Given the description of an element on the screen output the (x, y) to click on. 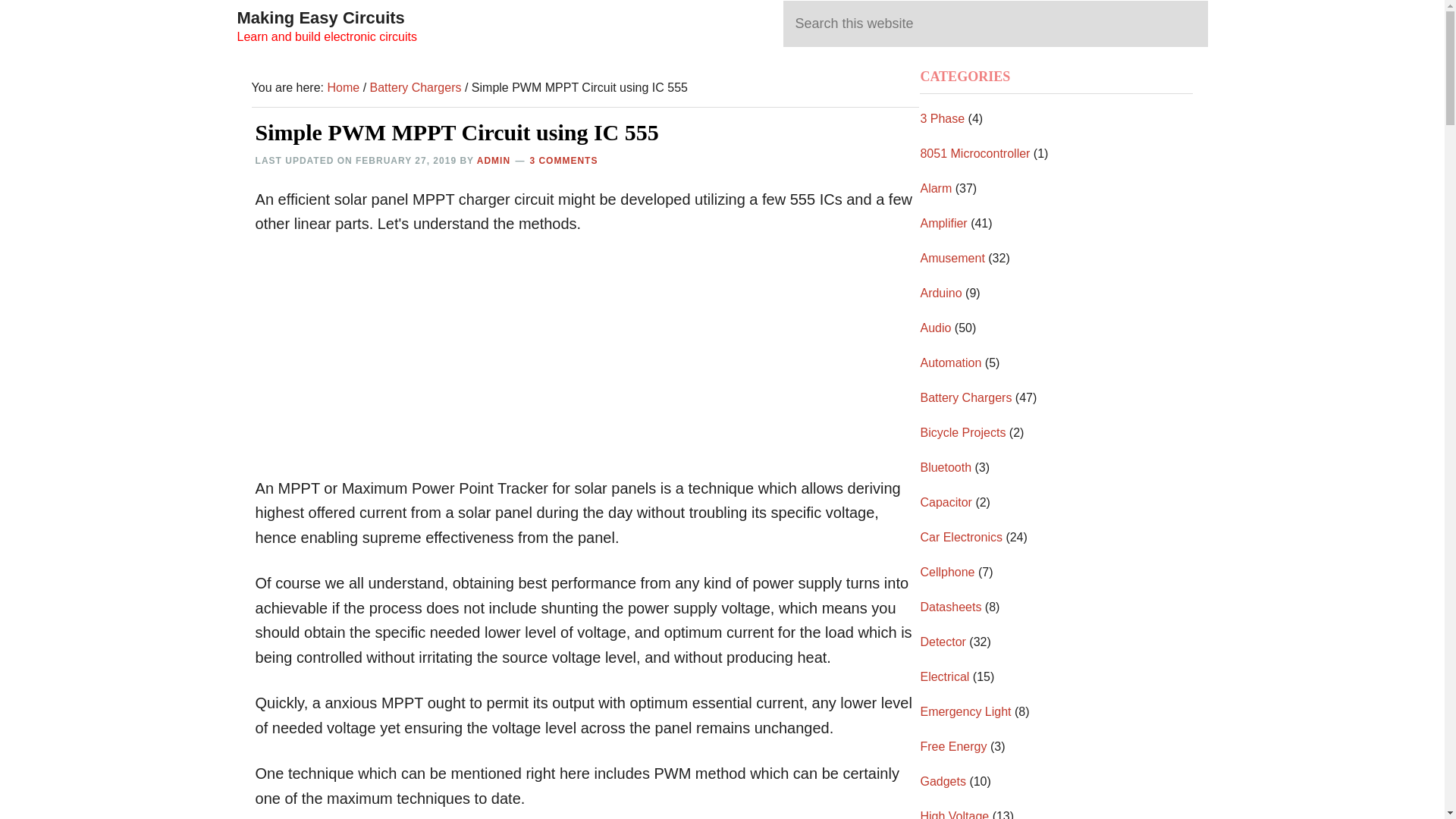
Audio (935, 327)
Automation (950, 362)
Amusement (952, 257)
Alarm (936, 187)
8051 Microcontroller (974, 153)
Battery Chargers (415, 87)
Making Easy Circuits (319, 17)
3 COMMENTS (562, 160)
Amplifier (943, 223)
